Given the description of an element on the screen output the (x, y) to click on. 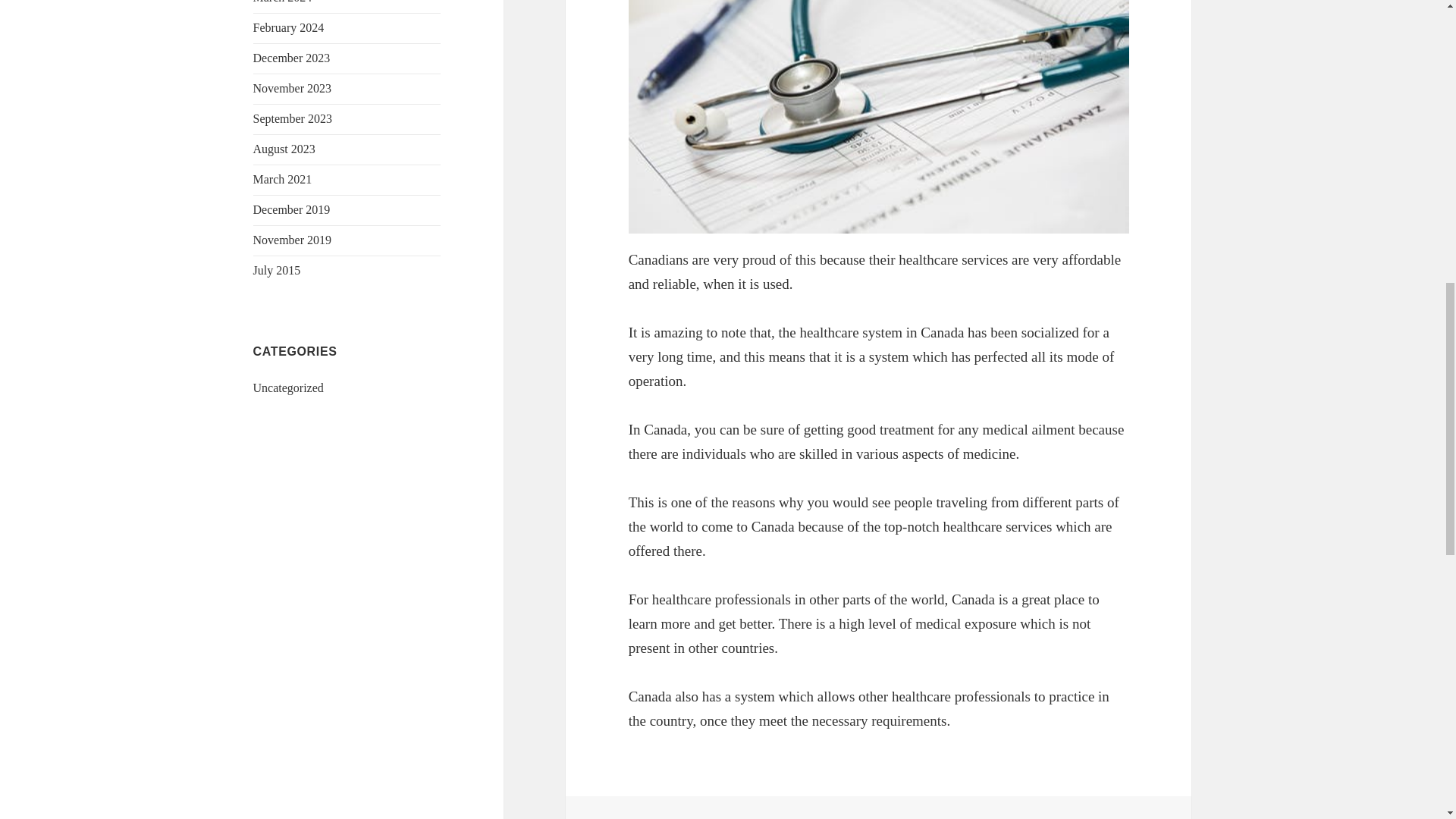
Uncategorized (288, 387)
August 2023 (284, 148)
December 2023 (291, 57)
November 2023 (292, 88)
November 2019 (292, 239)
December 2019 (291, 209)
September 2023 (292, 118)
February 2024 (288, 27)
July 2015 (277, 269)
March 2024 (283, 2)
March 2021 (283, 178)
